Given the description of an element on the screen output the (x, y) to click on. 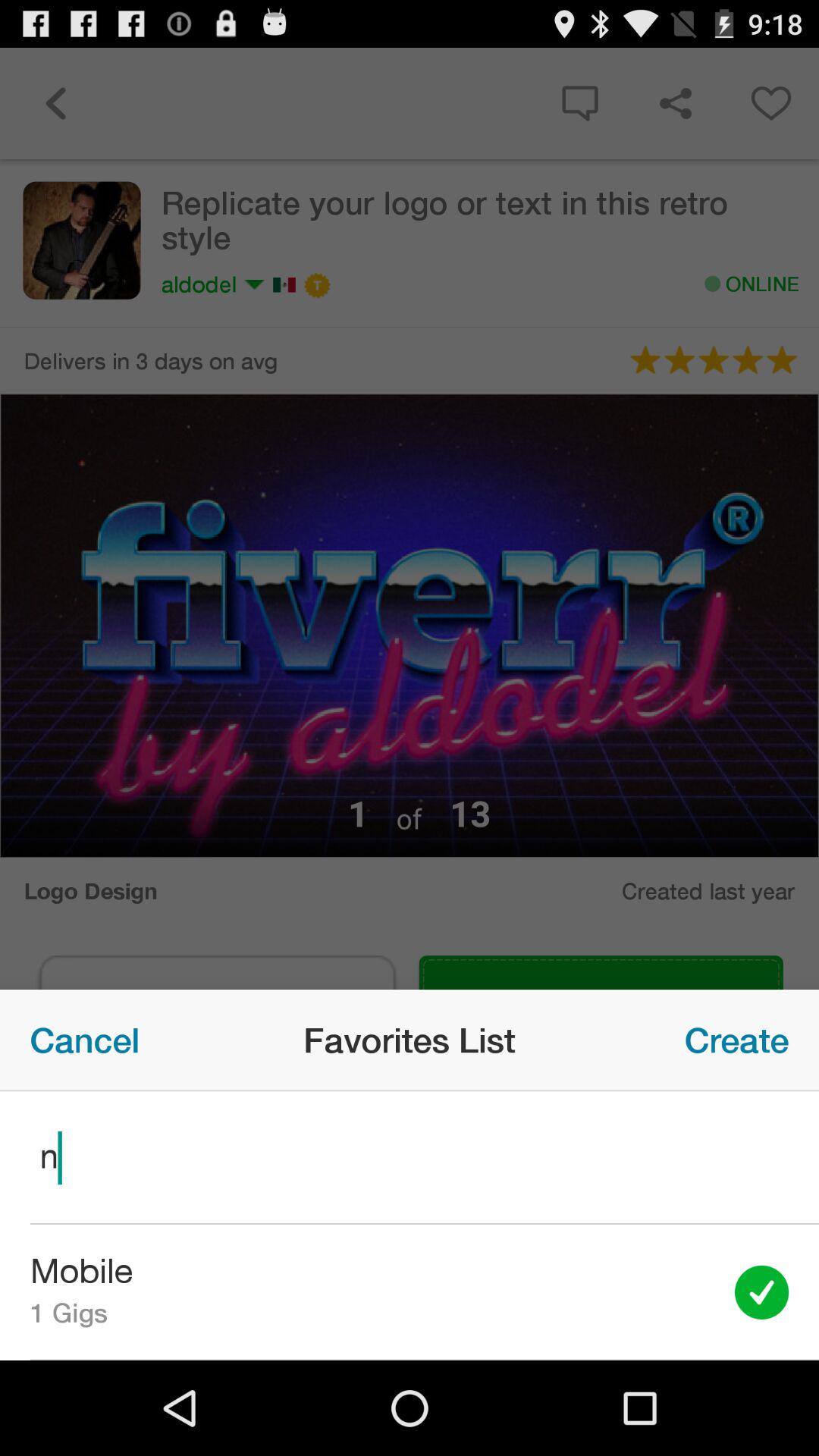
scroll until create icon (736, 1039)
